Given the description of an element on the screen output the (x, y) to click on. 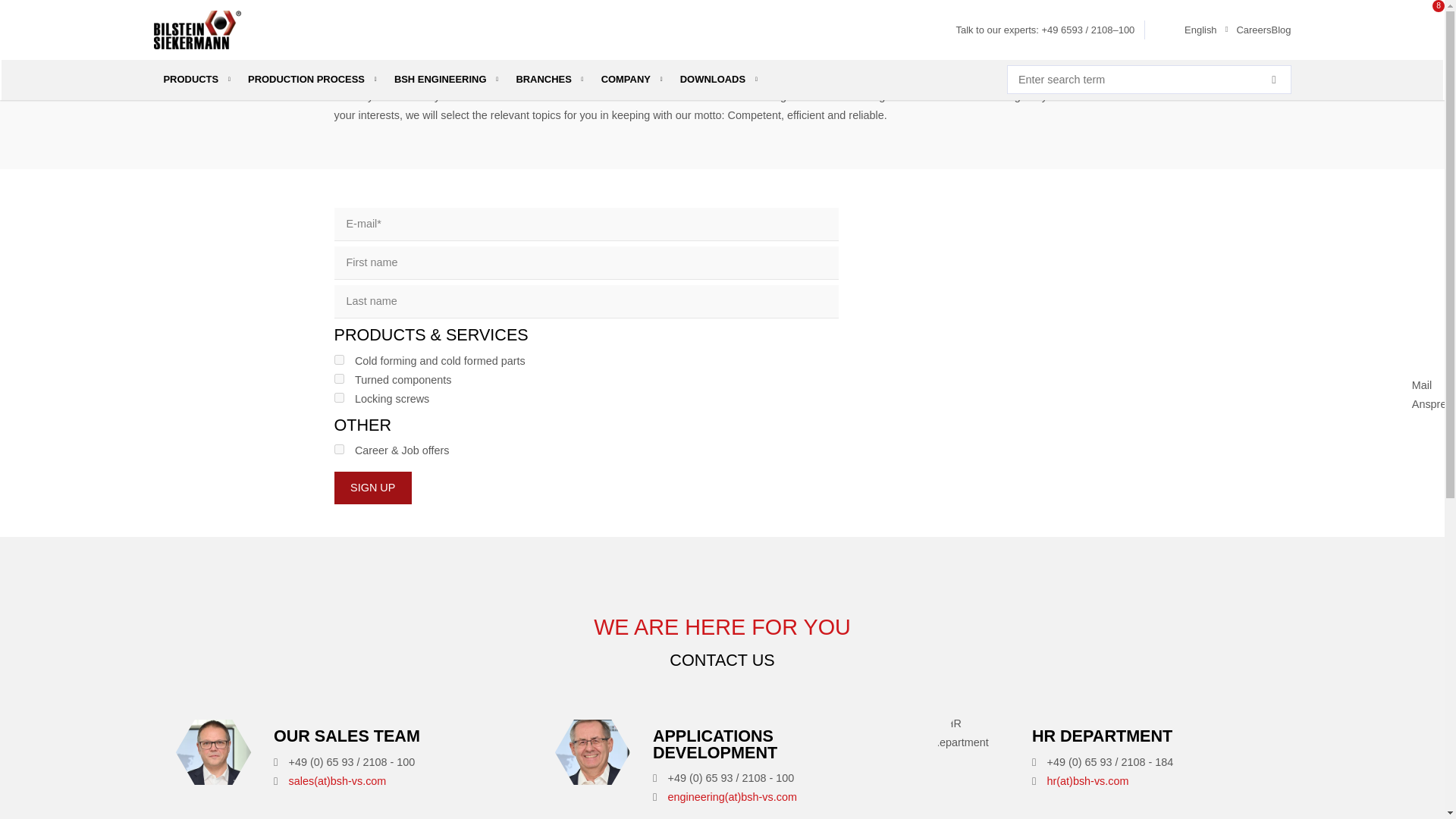
Turned components (338, 378)
Locking screws (338, 397)
Cold forming and cold formed parts (338, 359)
